Given the description of an element on the screen output the (x, y) to click on. 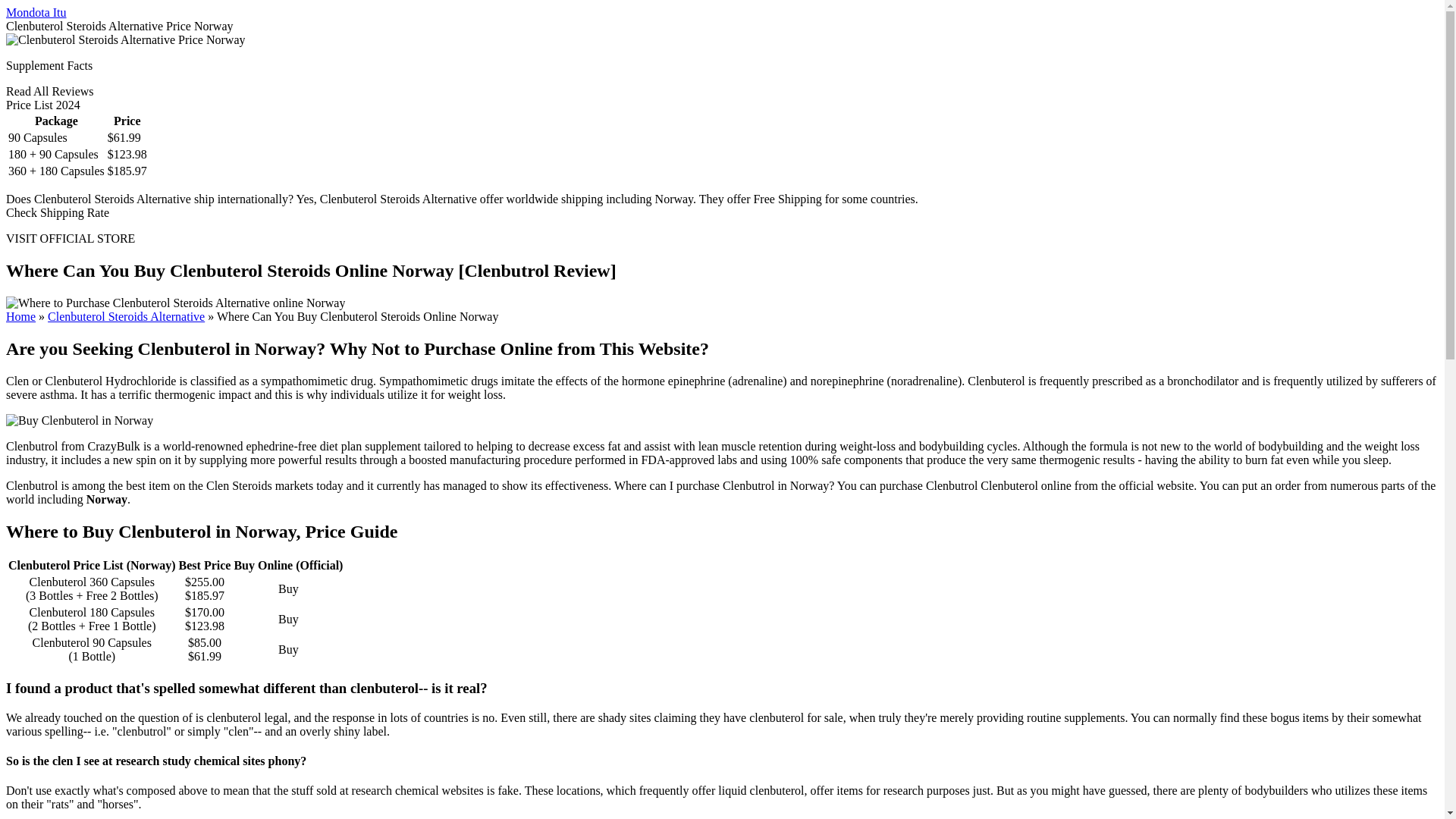
Home (19, 316)
Clenbuterol Steroids Alternative (126, 316)
Buy Clenbuterol in Norway (78, 420)
Clenbuterol Steroids Alternative Price Norway (124, 39)
Mondota Itu (35, 11)
Buy Clenbuterol Steroids Alternative online Norway (175, 303)
Mondota Itu (35, 11)
Buy Clenbuterol Steroids Alternative Online  (126, 316)
